Given the description of an element on the screen output the (x, y) to click on. 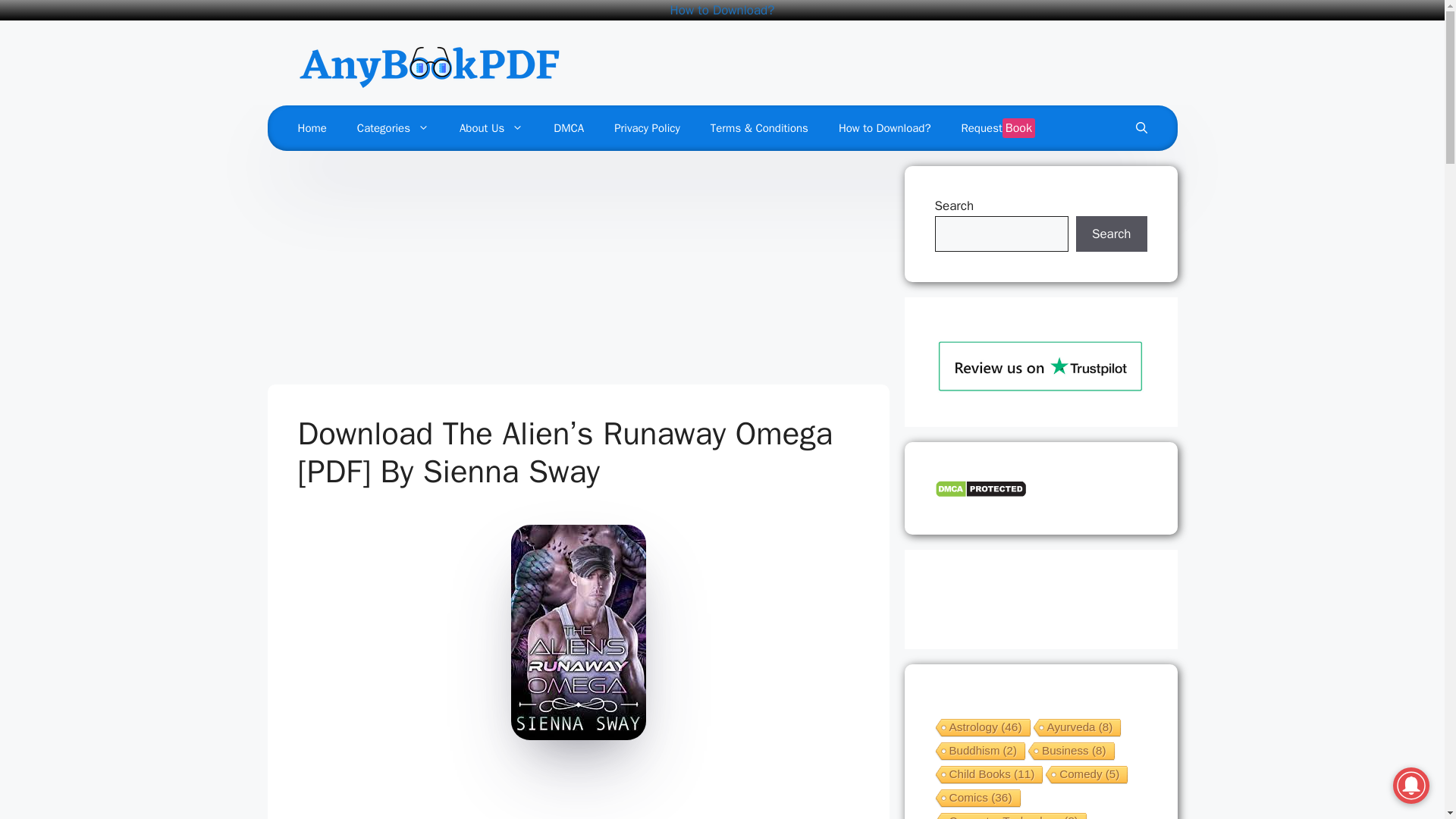
Categories (393, 127)
DMCA.com Protection Status (980, 494)
Home (311, 127)
Advertisement (578, 272)
About Us (491, 127)
Advertisement (572, 792)
How to Download? (721, 10)
